Given the description of an element on the screen output the (x, y) to click on. 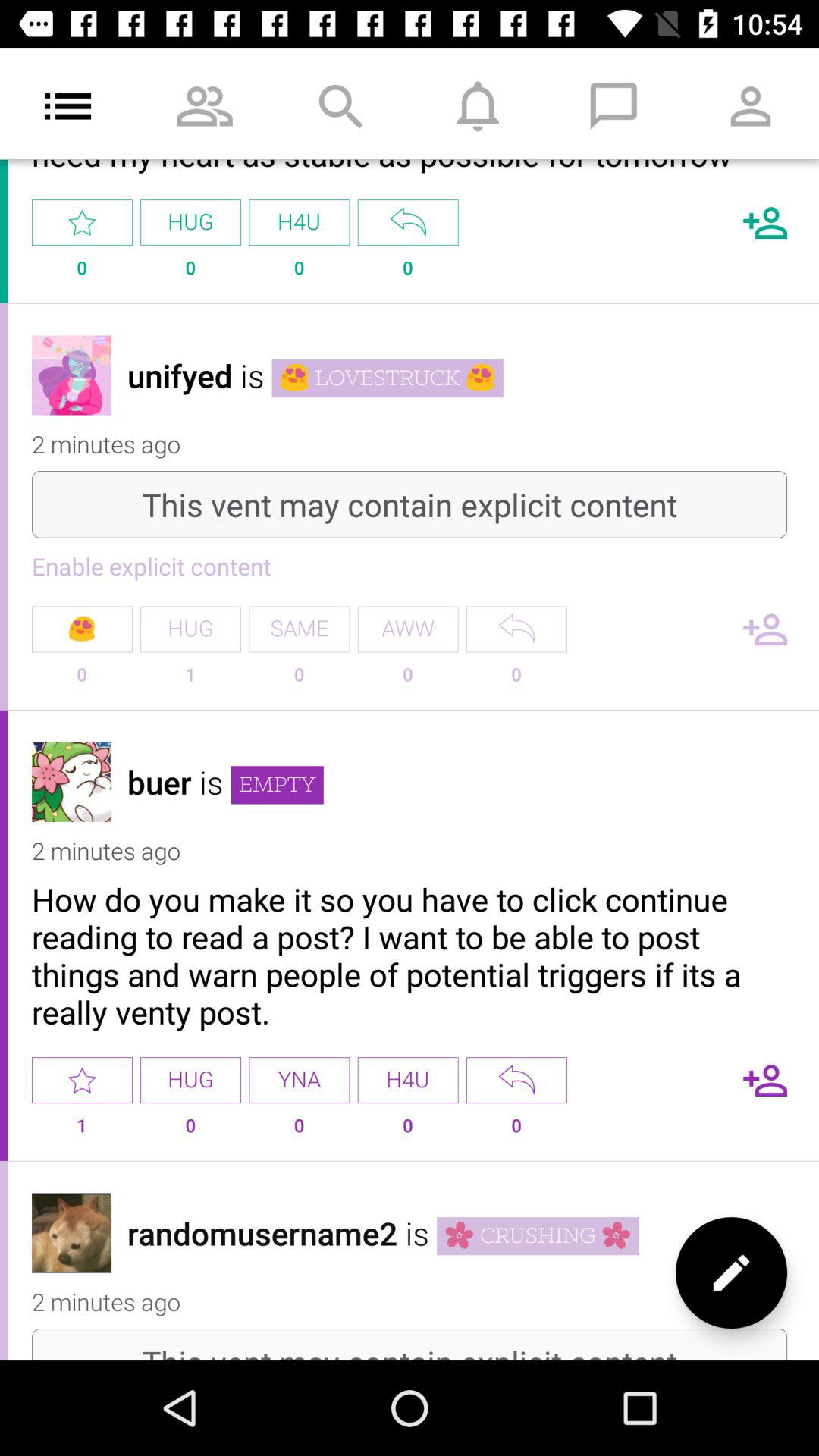
go to commenter 's page (71, 375)
